Given the description of an element on the screen output the (x, y) to click on. 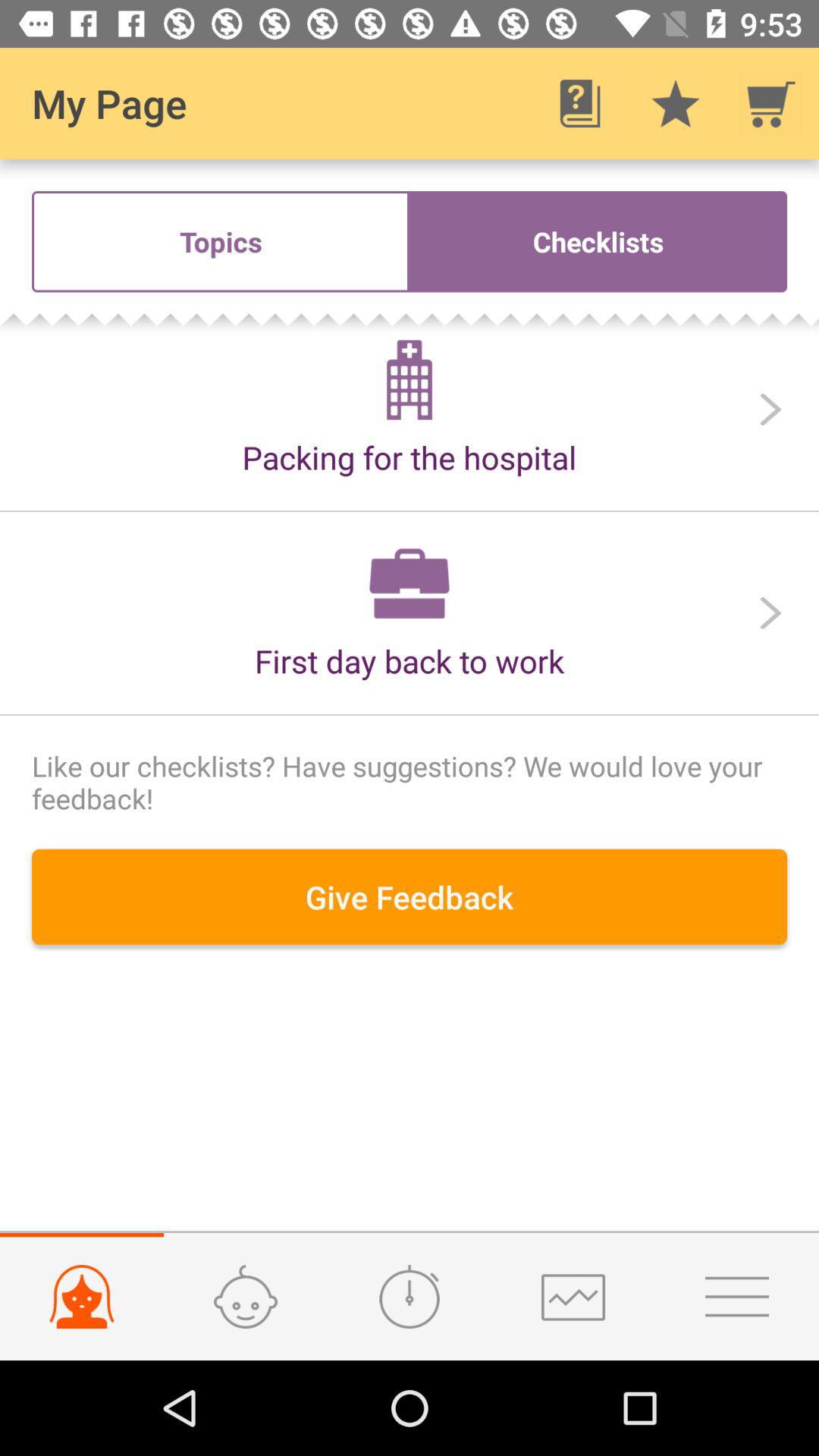
tap item below the my page (220, 241)
